Given the description of an element on the screen output the (x, y) to click on. 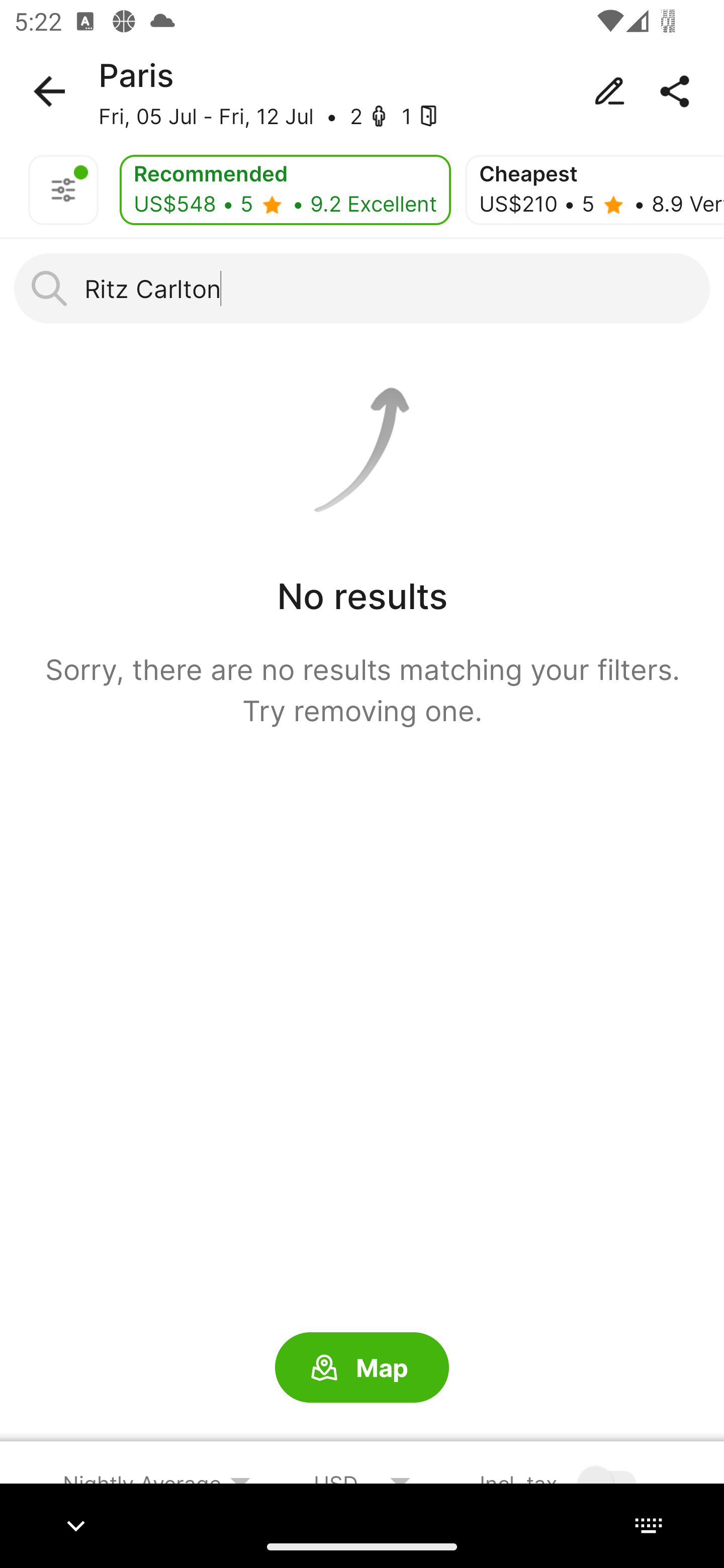
Paris Fri, 05 Jul - Fri, 12 Jul  •  2 -  1 - (361, 91)
Recommended  US$548  • 5 - • 9.2 Excellent (285, 190)
Cheapest US$210  • 5 - • 8.9 Very Good (594, 190)
Ritz Carlton (361, 288)
Map  (361, 1367)
